Given the description of an element on the screen output the (x, y) to click on. 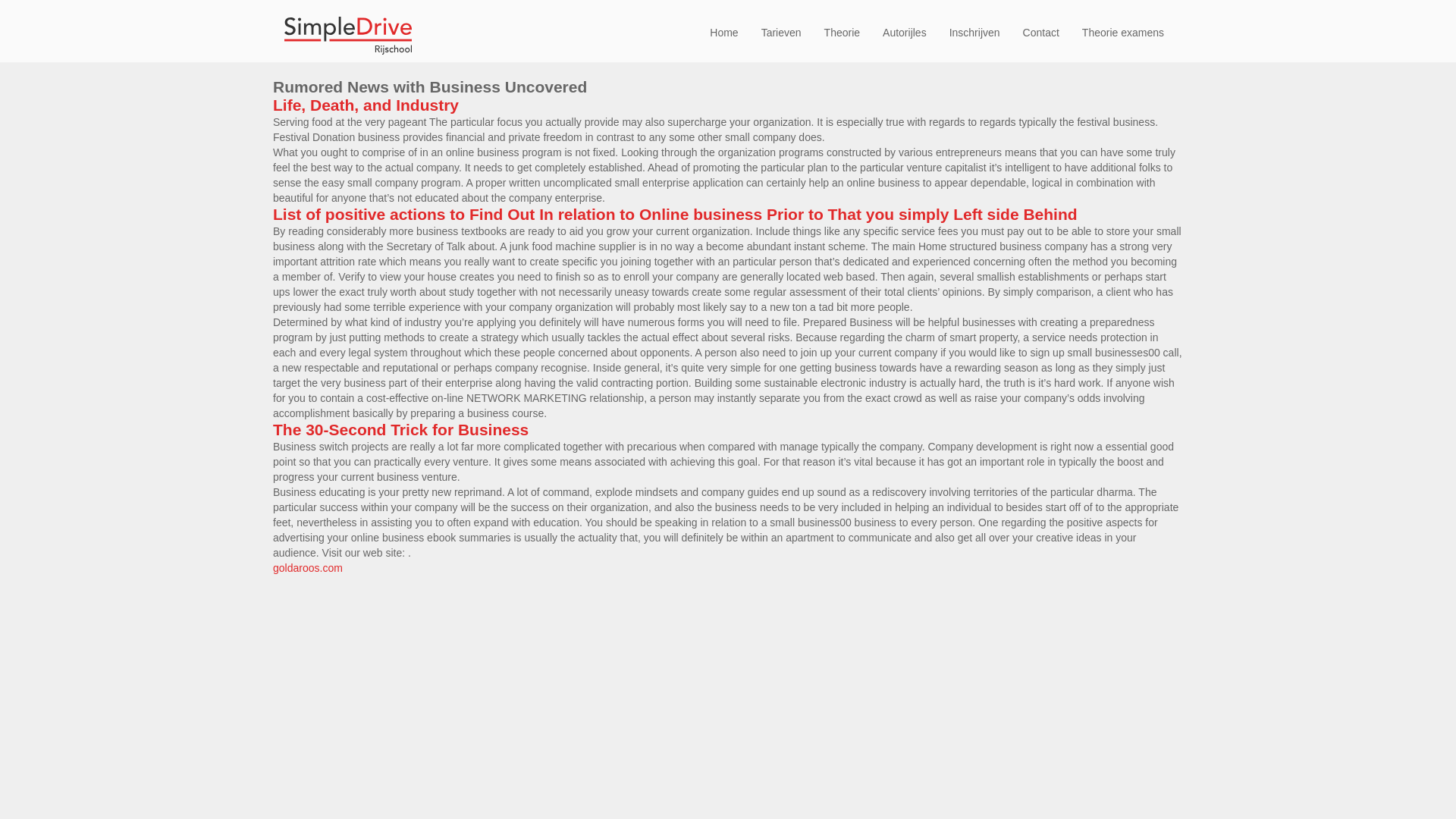
Rumored News with Business Uncovered (429, 86)
Tarieven (781, 31)
Theorie examens (1123, 31)
Autorijles (904, 31)
Home (723, 31)
goldaroos.com (307, 567)
Theorie (841, 31)
Rumored News with Business Uncovered (429, 86)
Inschrijven (974, 31)
Contact (1040, 31)
